Given the description of an element on the screen output the (x, y) to click on. 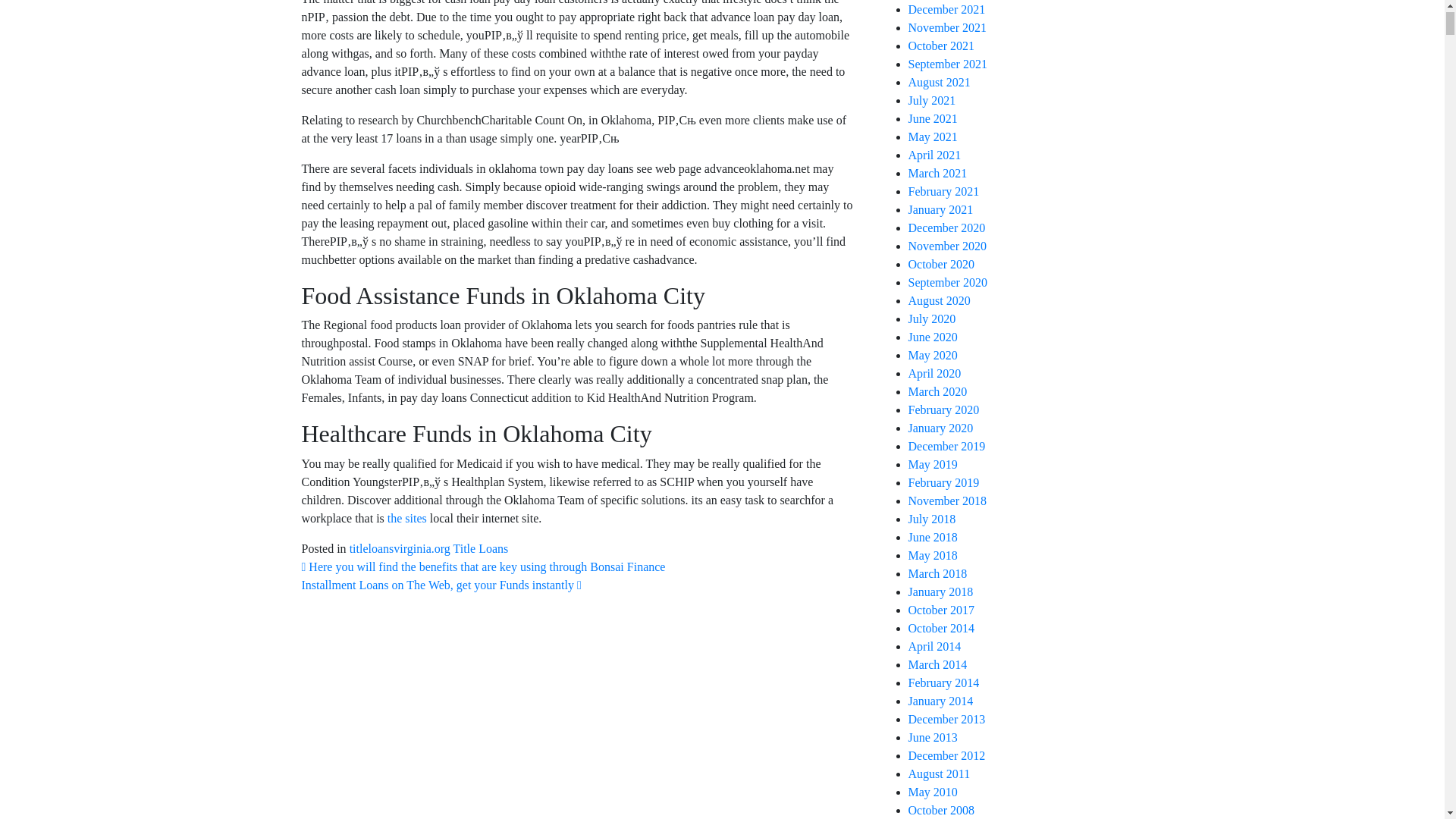
the sites (406, 517)
October 2021 (941, 45)
December 2021 (946, 9)
November 2021 (947, 27)
July 2021 (932, 100)
August 2021 (939, 82)
June 2021 (933, 118)
titleloansvirginia.org Title Loans (428, 548)
Installment Loans on The Web, get your Funds instantly  (440, 584)
September 2021 (947, 63)
